Given the description of an element on the screen output the (x, y) to click on. 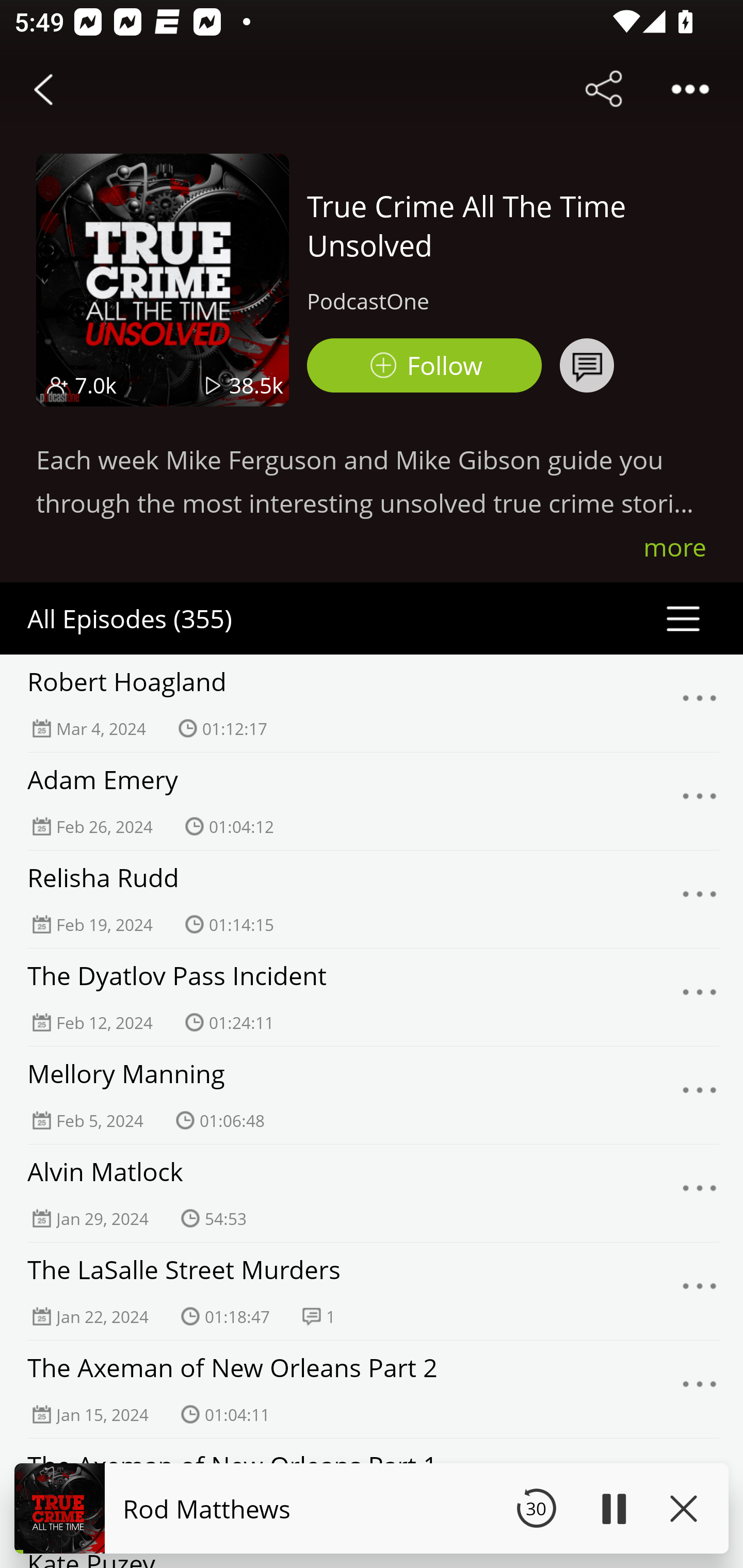
Back (43, 88)
Podbean Follow (423, 365)
7.0k (95, 384)
more (674, 546)
Robert Hoagland Mar 4, 2024 01:12:17 Menu (371, 702)
Menu (699, 703)
Adam Emery Feb 26, 2024 01:04:12 Menu (371, 800)
Menu (699, 801)
Relisha Rudd Feb 19, 2024 01:14:15 Menu (371, 898)
Menu (699, 899)
Menu (699, 997)
Mellory Manning Feb 5, 2024 01:06:48 Menu (371, 1094)
Menu (699, 1095)
Alvin Matlock Jan 29, 2024 54:53 Menu (371, 1192)
Menu (699, 1193)
Menu (699, 1291)
Menu (699, 1389)
Rod Matthews 30 Seek Backward 59947.0 Play (371, 1508)
Play (613, 1507)
30 Seek Backward (536, 1508)
